Given the description of an element on the screen output the (x, y) to click on. 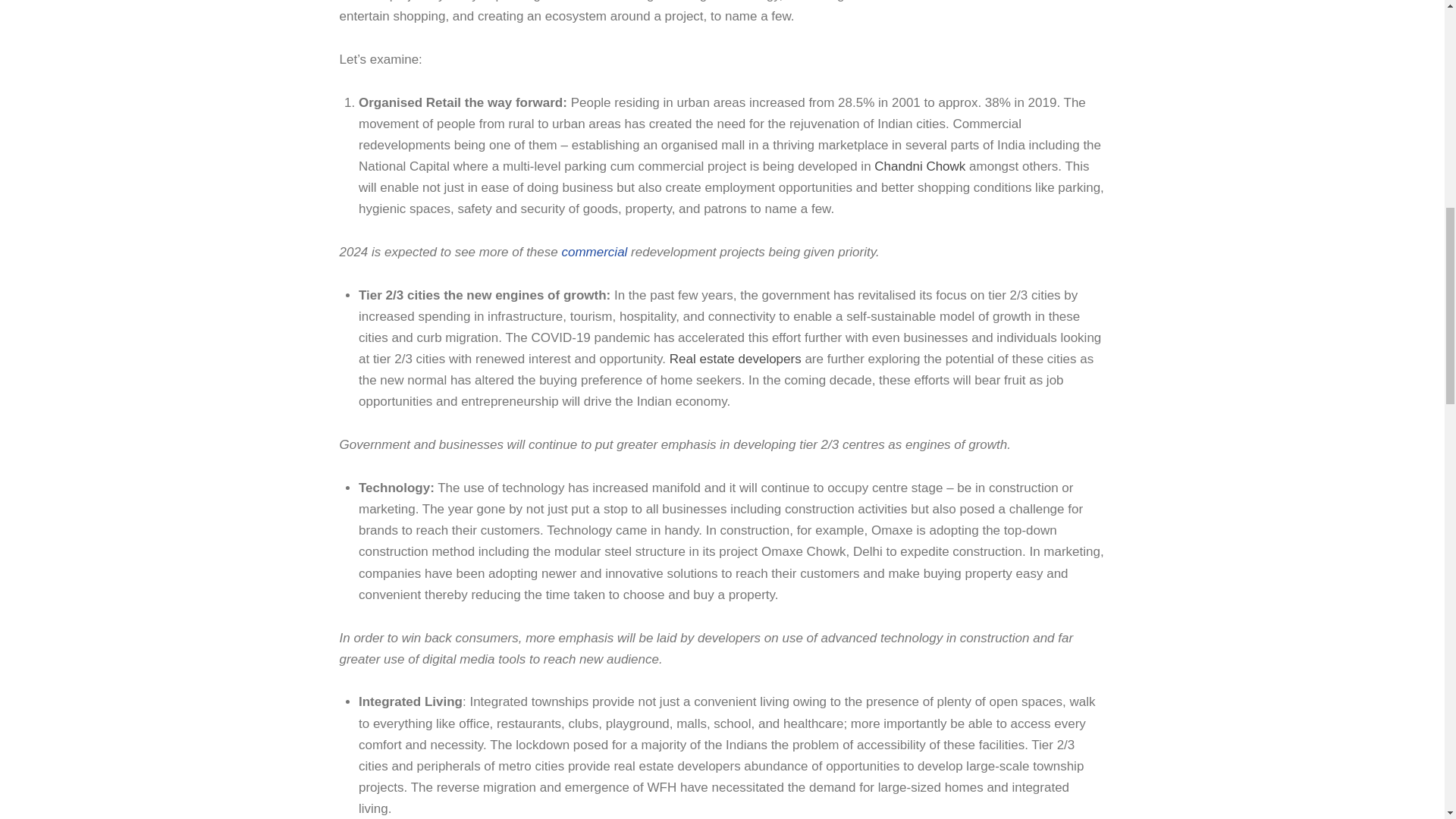
Real estate developers (735, 359)
Chandni Chowk (920, 165)
commercial (595, 251)
